Given the description of an element on the screen output the (x, y) to click on. 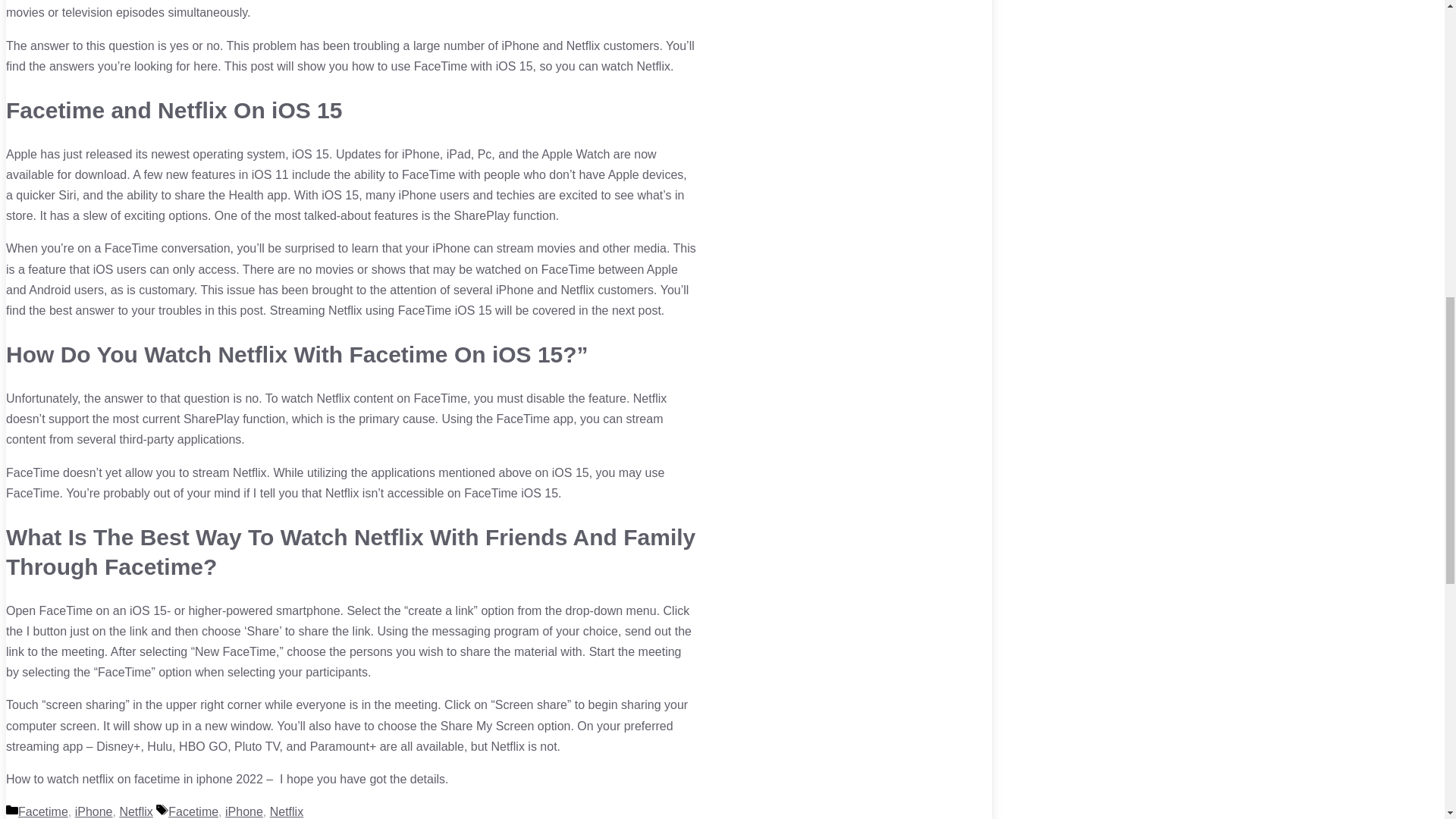
Scroll back to top (1406, 720)
iPhone (244, 811)
Facetime (42, 811)
Facetime (193, 811)
Netflix (135, 811)
iPhone (94, 811)
Netflix (285, 811)
